Given the description of an element on the screen output the (x, y) to click on. 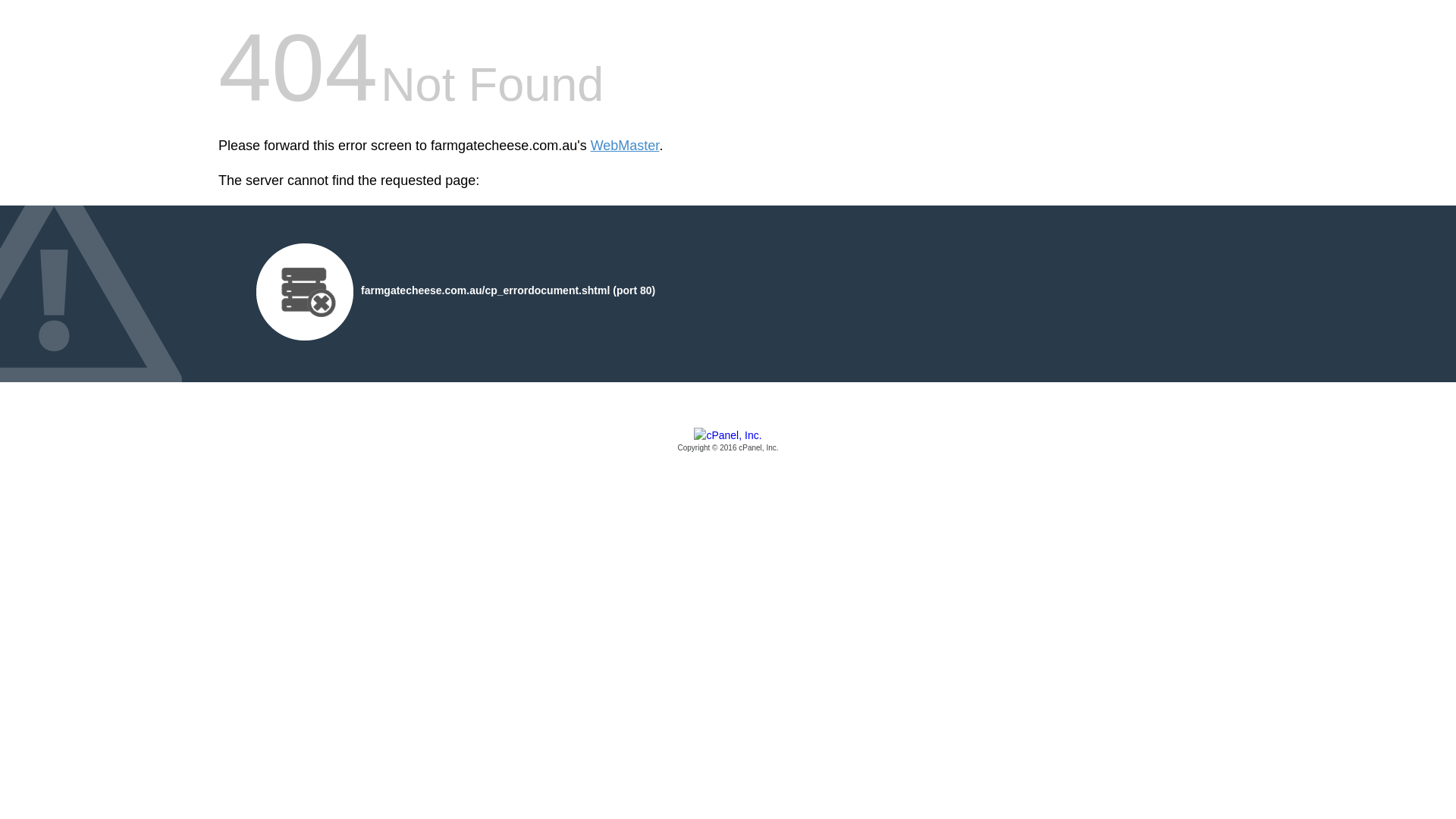
WebMaster Element type: text (624, 145)
